Given the description of an element on the screen output the (x, y) to click on. 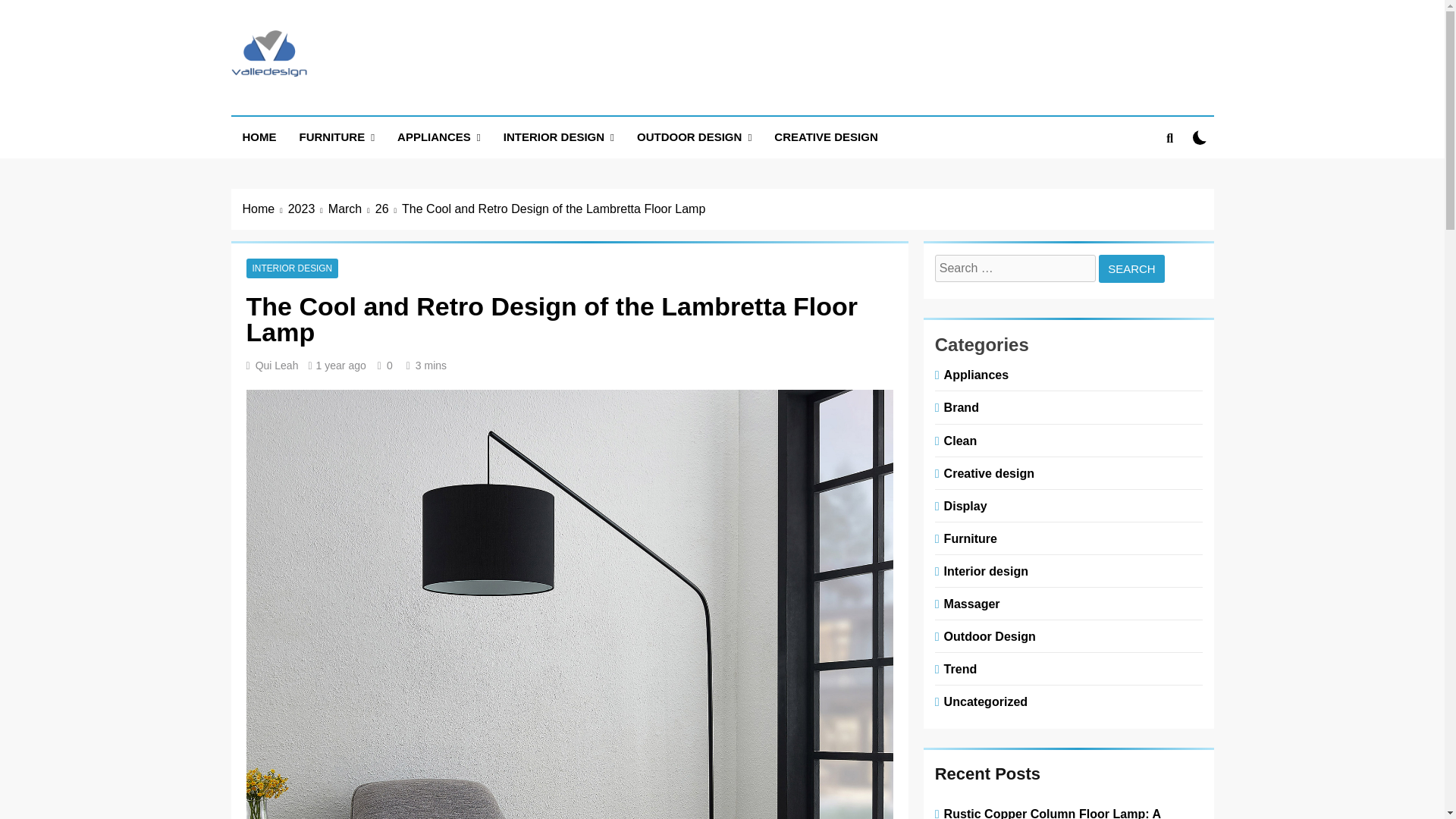
APPLIANCES (438, 137)
March (352, 208)
HOME (258, 137)
FURNITURE (337, 137)
26 (388, 208)
OUTDOOR DESIGN (694, 137)
INTERIOR DESIGN (559, 137)
CREATIVE DESIGN (825, 137)
2023 (308, 208)
Search (1131, 268)
on (1199, 137)
Search (1131, 268)
Home (265, 208)
Valledesign (317, 101)
